Given the description of an element on the screen output the (x, y) to click on. 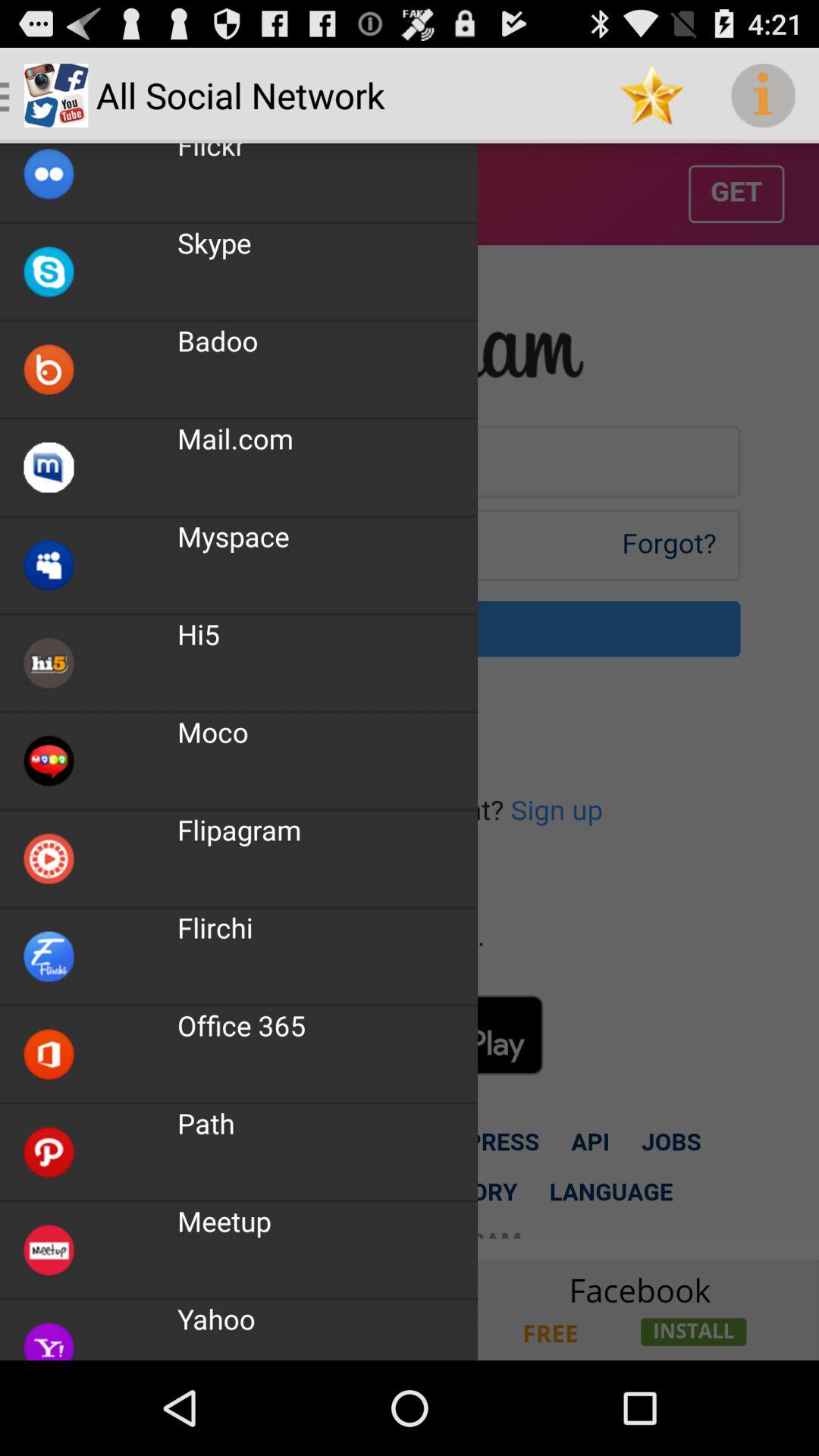
select the office 365 item (241, 1025)
